Given the description of an element on the screen output the (x, y) to click on. 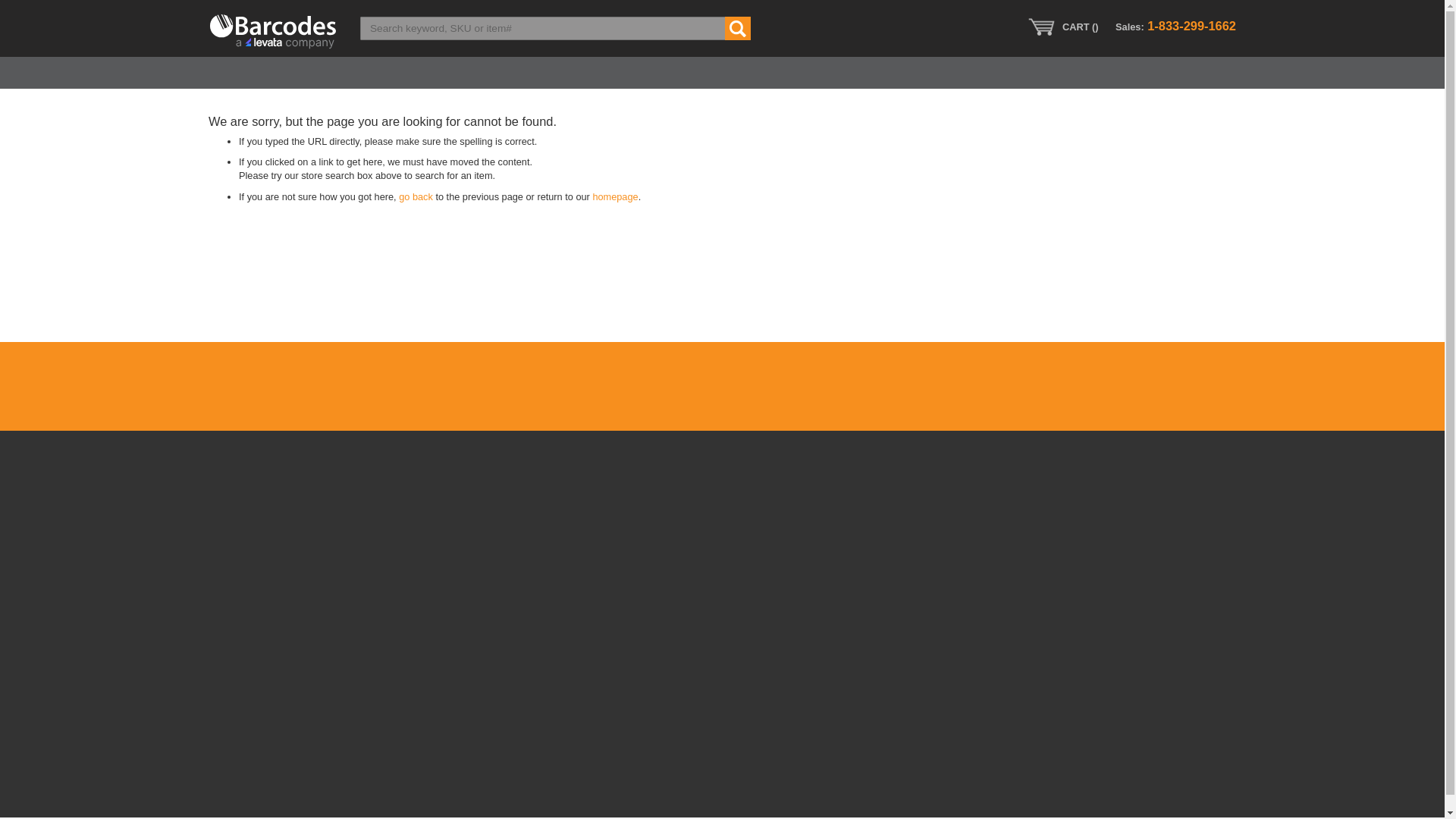
homepage (614, 196)
Search (738, 28)
go back (415, 196)
Search (738, 28)
Sales: 1-833-299-1662 (1175, 26)
logo white.svg (272, 31)
